Given the description of an element on the screen output the (x, y) to click on. 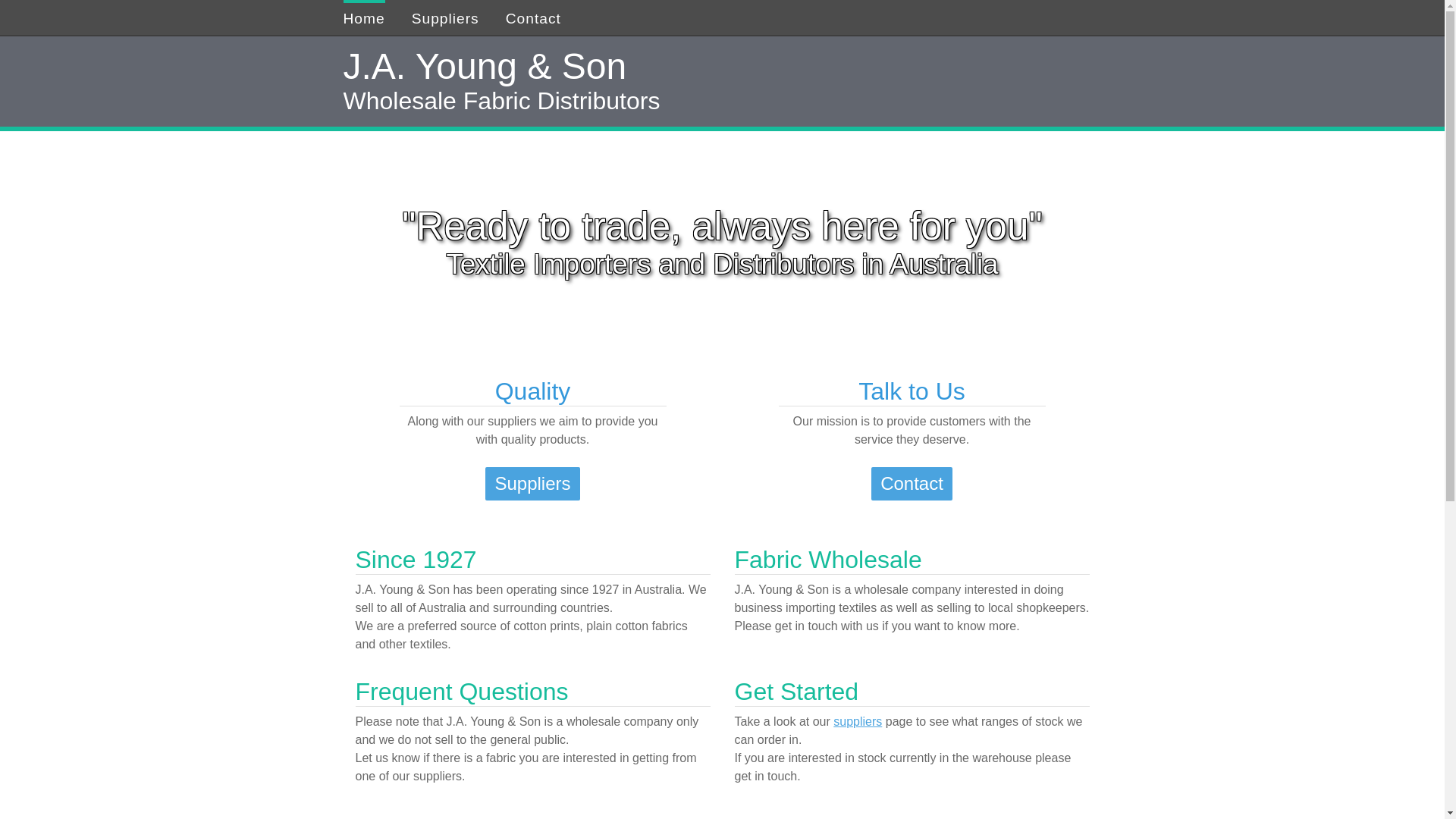
Contact Element type: text (911, 483)
J.A. Young & Son Element type: text (721, 66)
Home Element type: text (363, 17)
suppliers Element type: text (857, 721)
Suppliers Element type: text (445, 17)
Suppliers Element type: text (532, 483)
Contact Element type: text (533, 17)
